Given the description of an element on the screen output the (x, y) to click on. 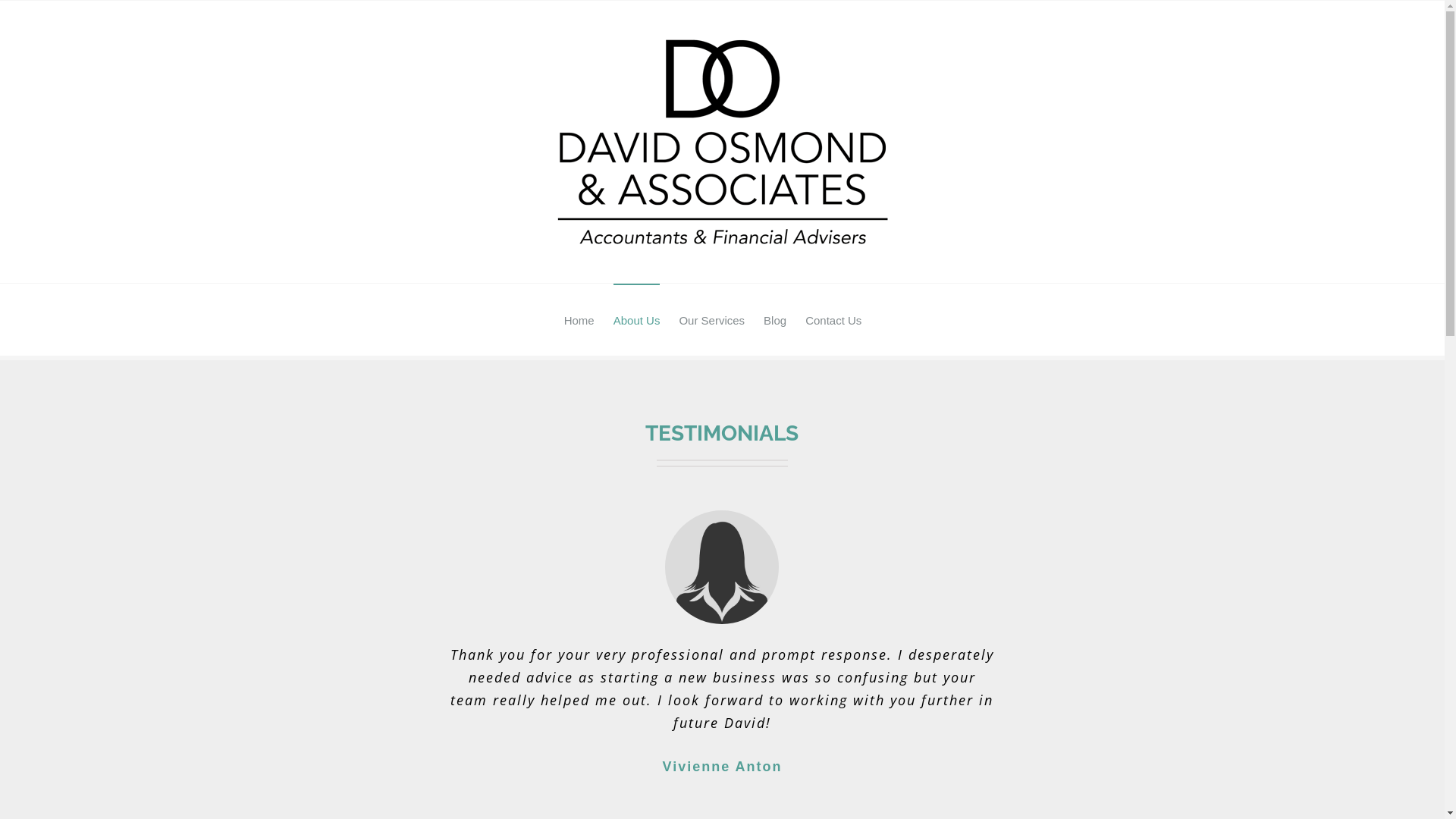
Home Element type: text (579, 319)
Contact Us Element type: text (833, 319)
About Us Element type: text (636, 319)
Our Services Element type: text (711, 319)
Blog Element type: text (774, 319)
